Given the description of an element on the screen output the (x, y) to click on. 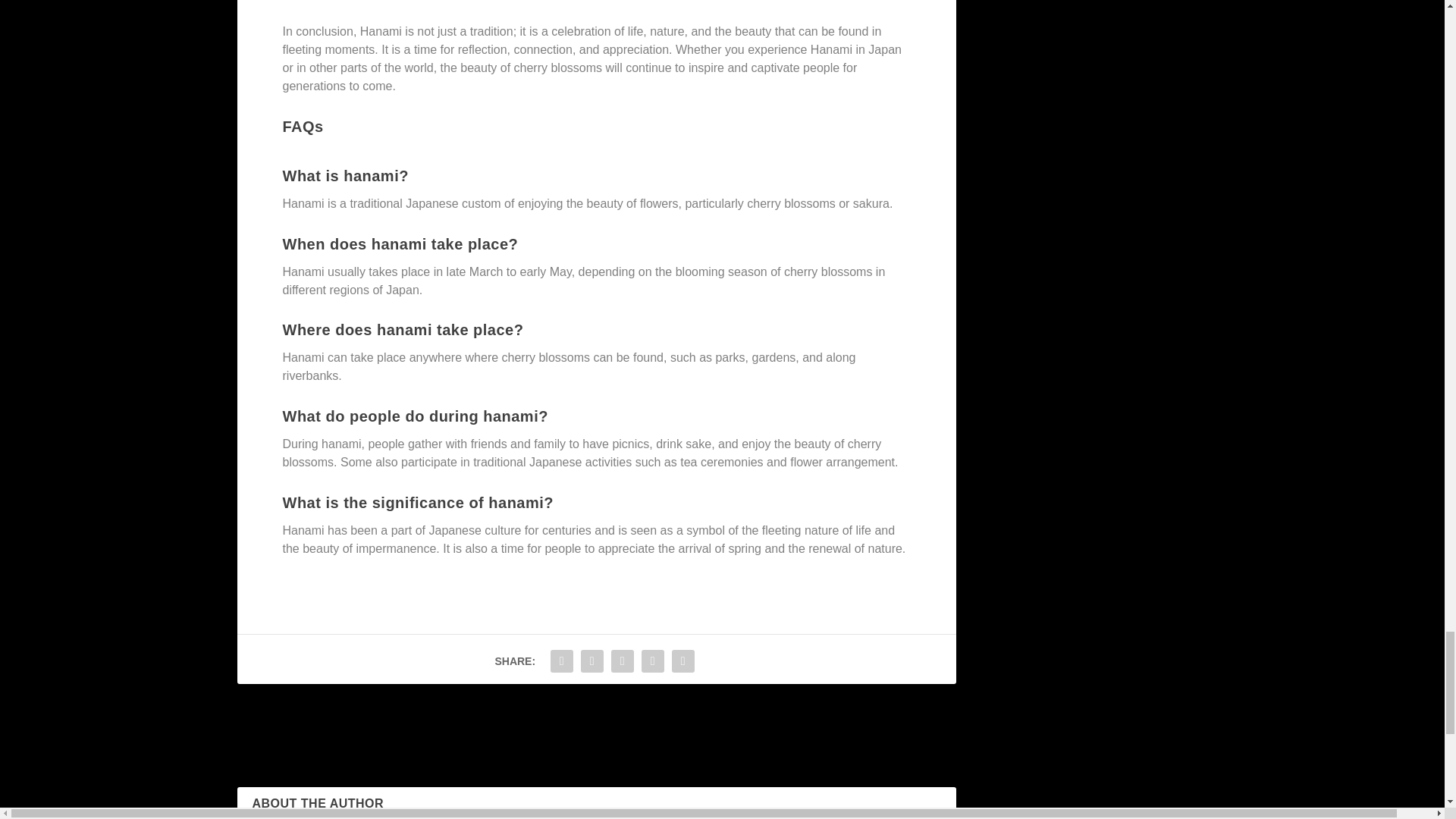
Share "What is hanami in Japanese?" via Print (683, 661)
Share "What is hanami in Japanese?" via Facebook (561, 661)
Share "What is hanami in Japanese?" via Twitter (591, 661)
Share "What is hanami in Japanese?" via Pinterest (622, 661)
Share "What is hanami in Japanese?" via Email (652, 661)
